Given the description of an element on the screen output the (x, y) to click on. 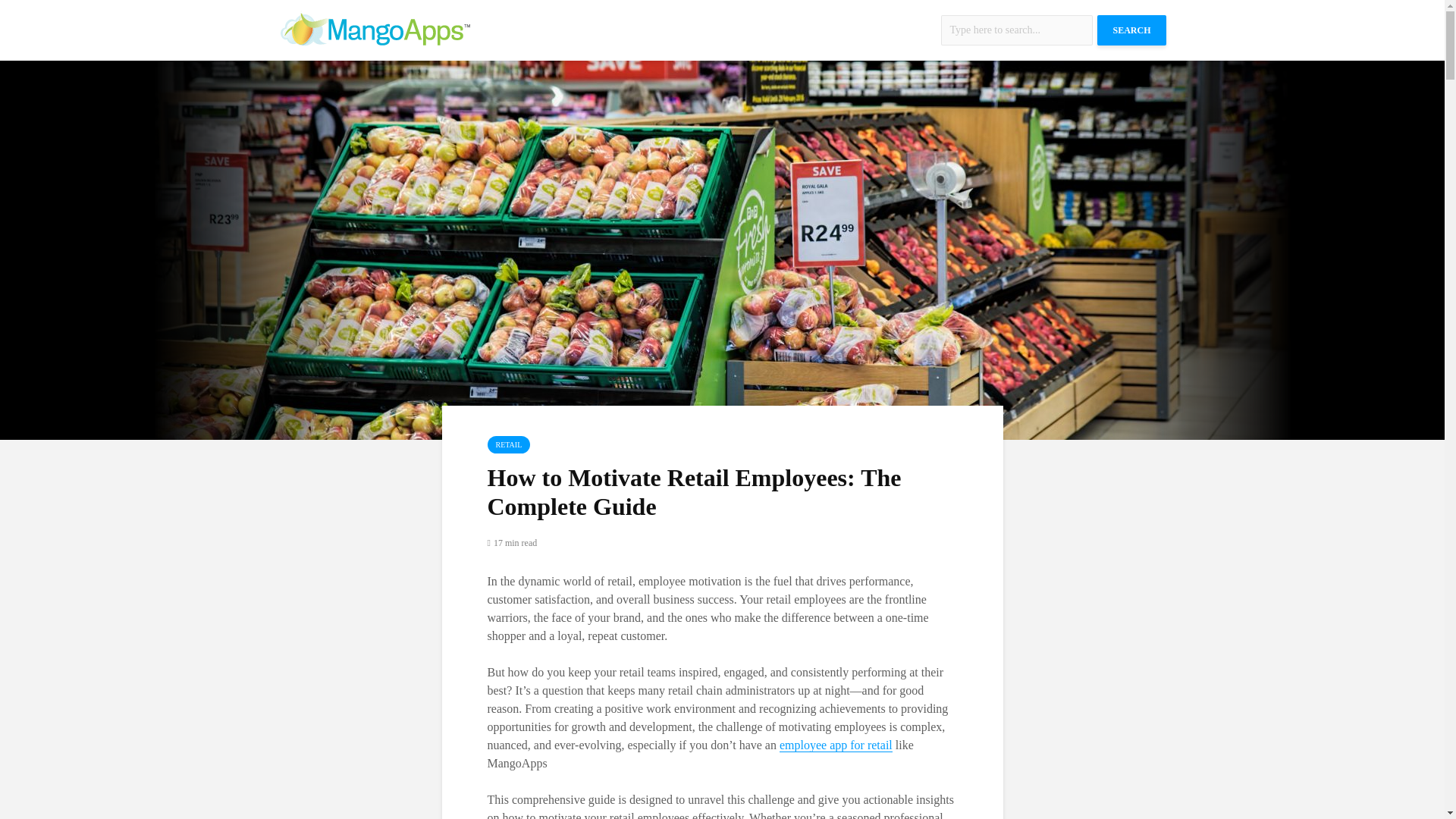
RETAIL (507, 444)
SEARCH (1131, 30)
employee app for retail (835, 745)
